Given the description of an element on the screen output the (x, y) to click on. 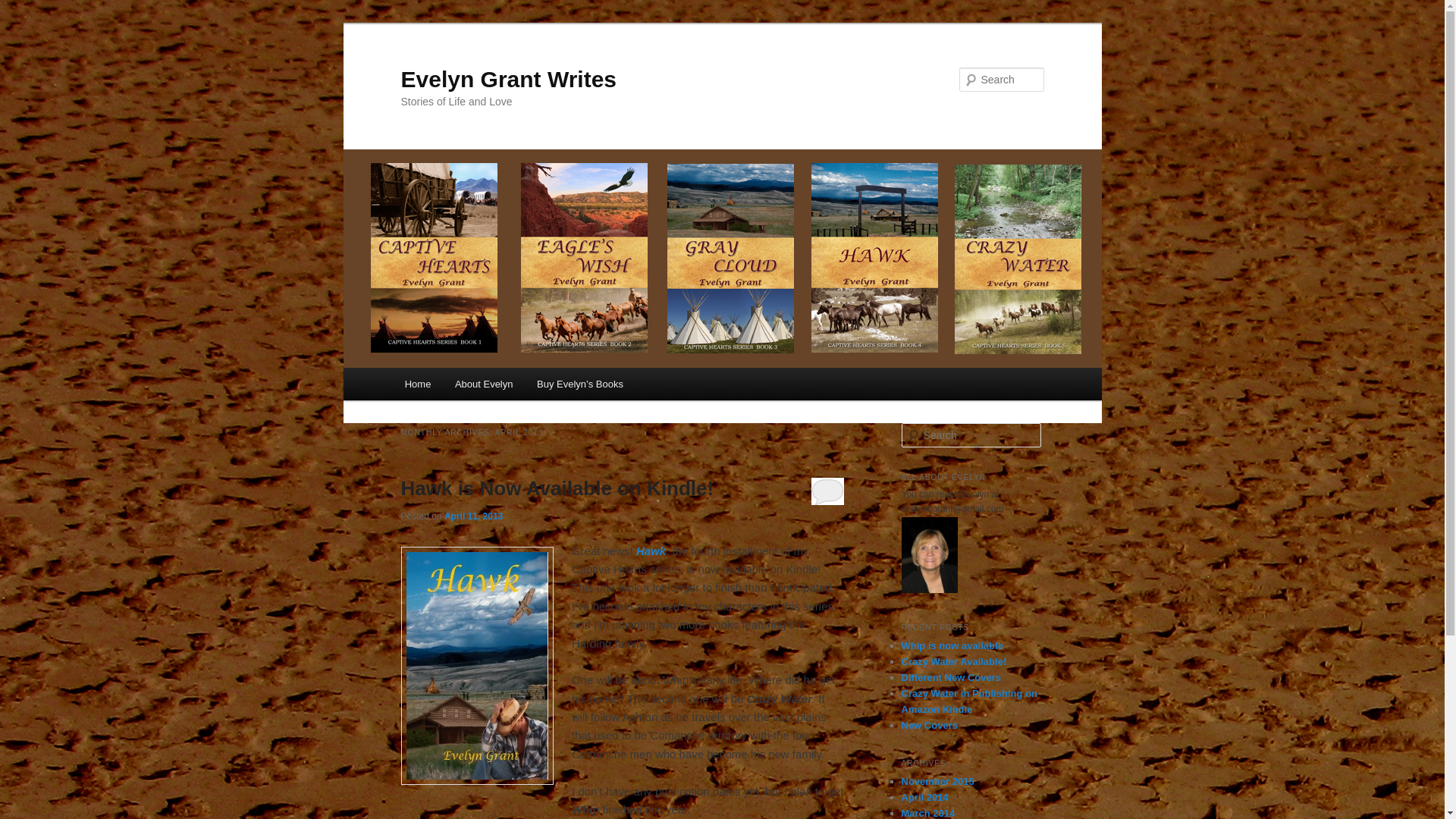
Search (21, 11)
Skip to primary content (472, 386)
Evelyn Grant Writes (507, 78)
Crazy Water Available! (953, 661)
Crazy Water in Publishing on Amazon Kindle (968, 700)
March 2014 (928, 813)
Home (417, 383)
8:46 am (473, 516)
Whip is now available (952, 645)
Evelyn Grant Writes (507, 78)
